Given the description of an element on the screen output the (x, y) to click on. 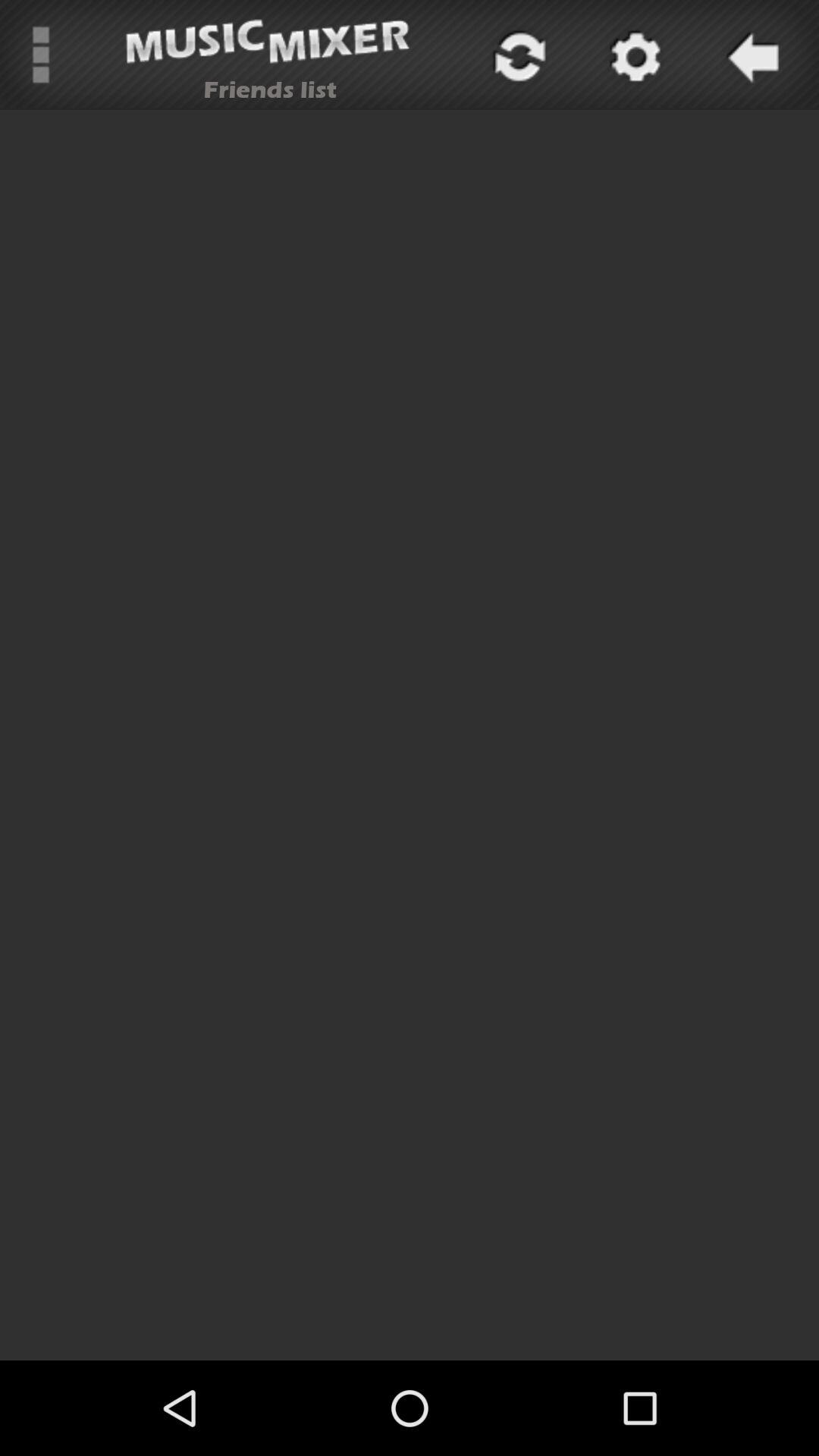
go back (750, 54)
